Given the description of an element on the screen output the (x, y) to click on. 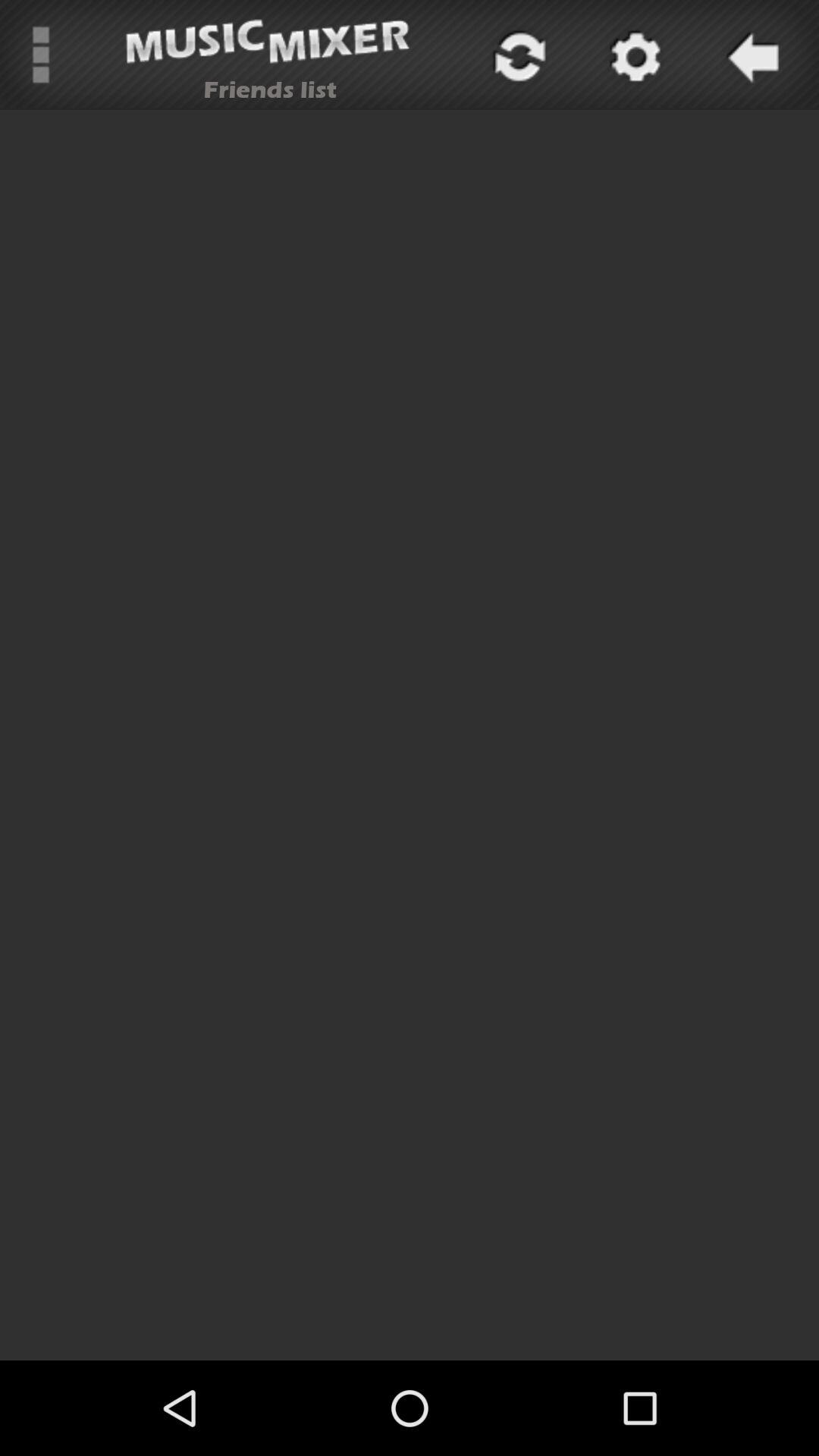
go back (750, 54)
